Given the description of an element on the screen output the (x, y) to click on. 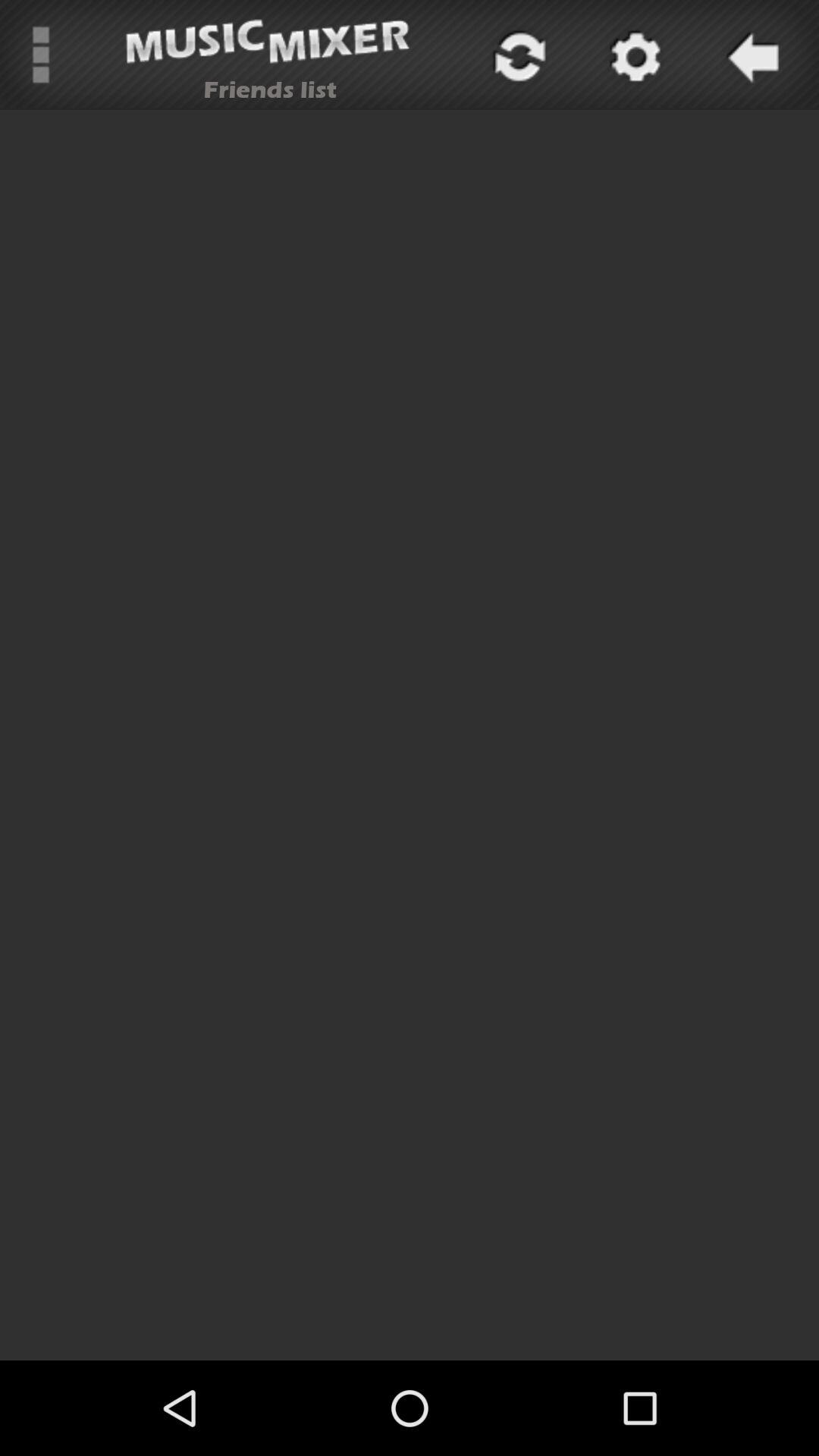
go back (750, 54)
